Given the description of an element on the screen output the (x, y) to click on. 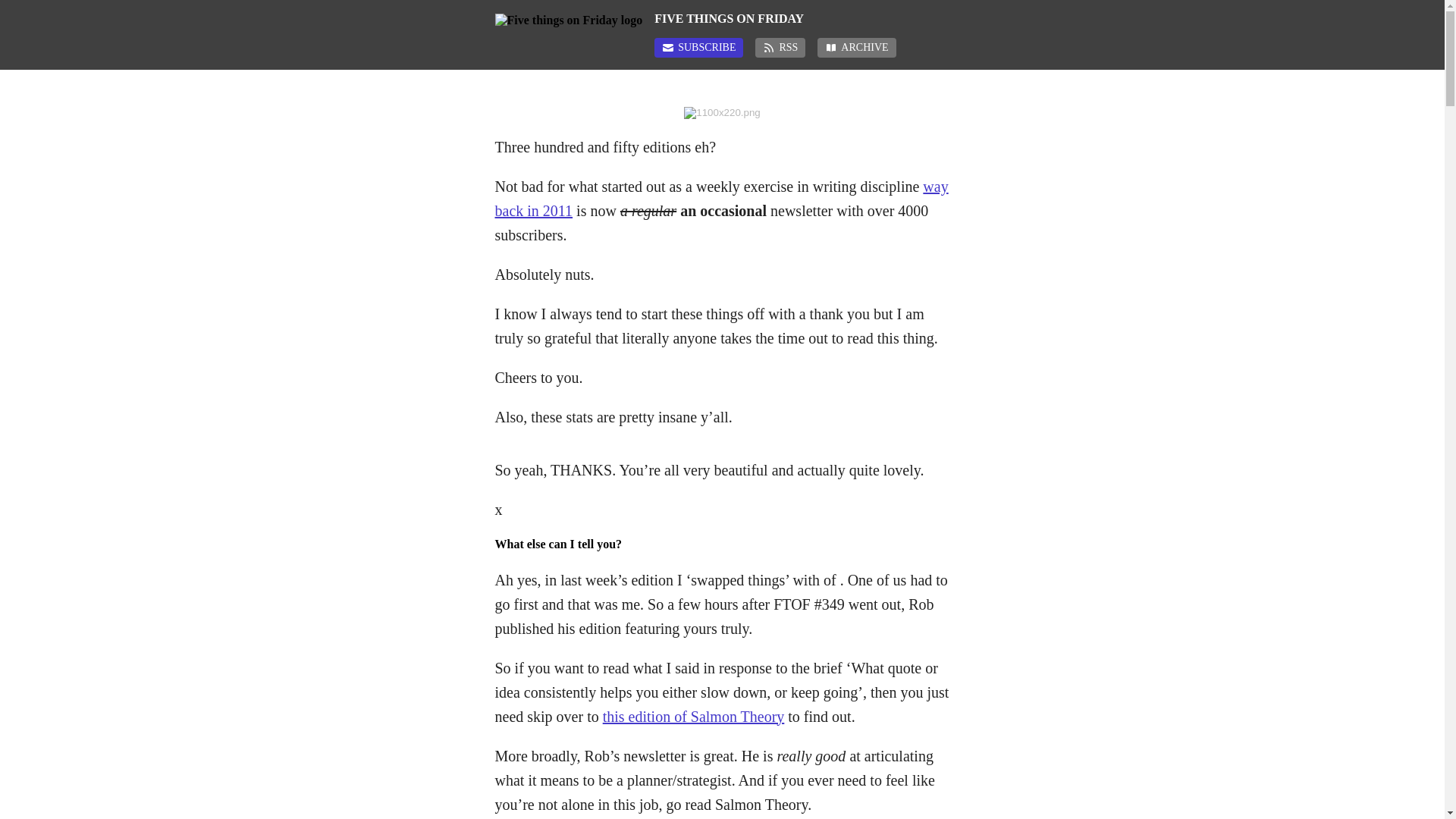
SUBSCRIBE (697, 47)
FIVE THINGS ON FRIDAY (801, 18)
RSS (780, 47)
way back in 2011 (721, 198)
this edition of Salmon Theory (693, 716)
ARCHIVE (855, 47)
